Given the description of an element on the screen output the (x, y) to click on. 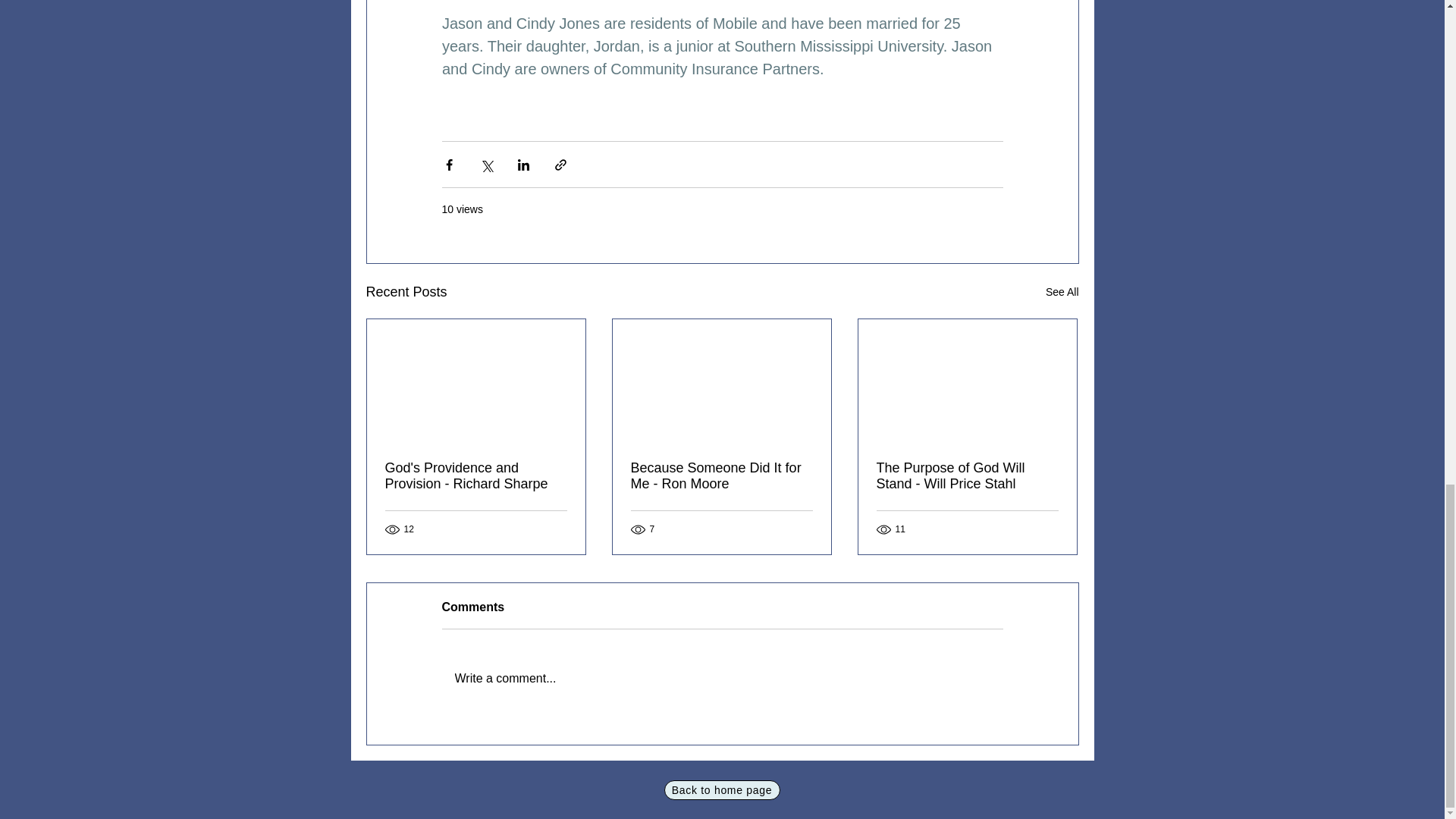
Write a comment... (722, 678)
The Purpose of God Will Stand - Will Price Stahl (967, 476)
See All (1061, 292)
Back to home page (721, 790)
Because Someone Did It for Me - Ron Moore (721, 476)
God's Providence and Provision - Richard Sharpe (476, 476)
